Given the description of an element on the screen output the (x, y) to click on. 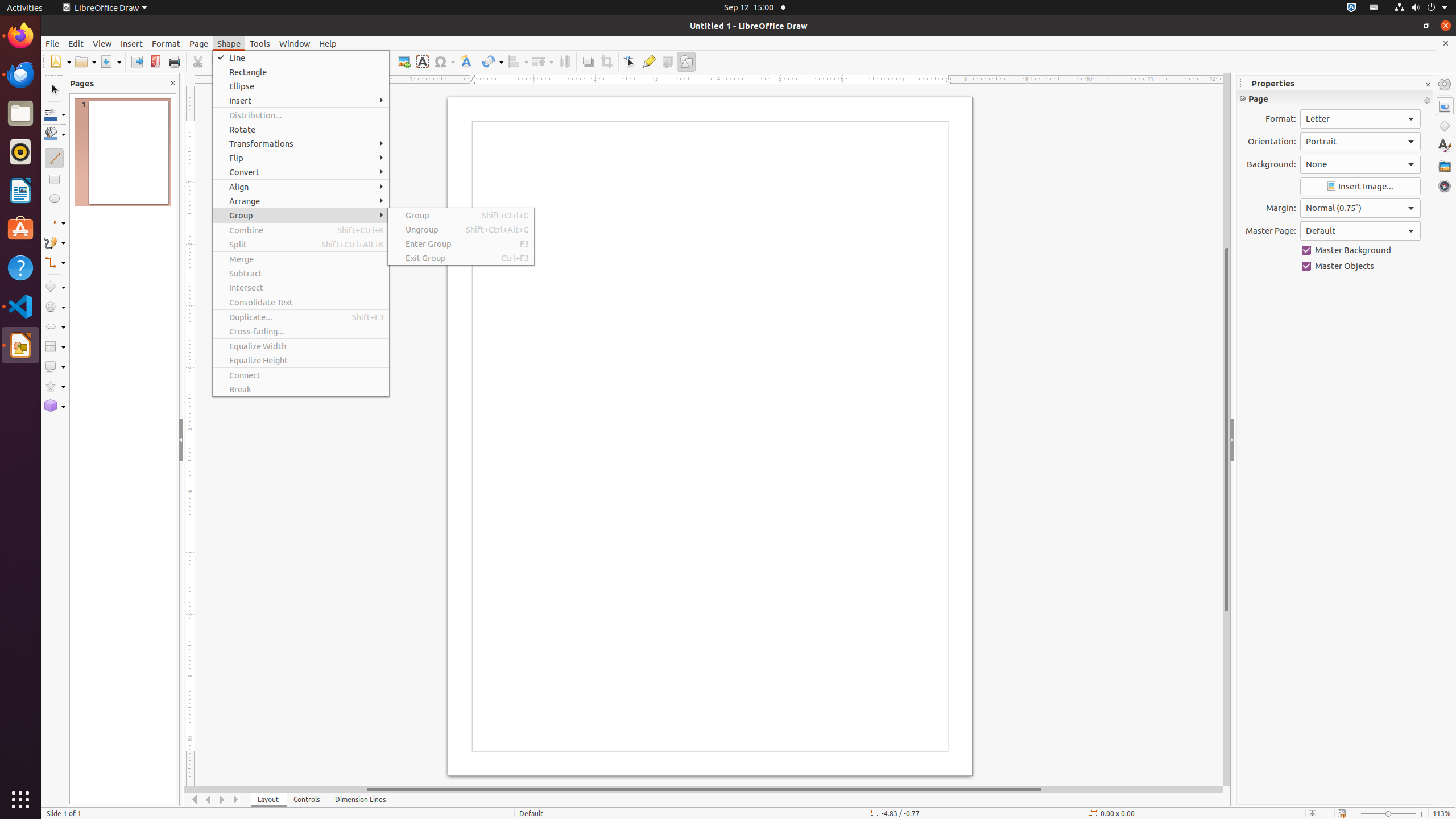
Distribution Element type: push-button (564, 61)
Move Right Element type: push-button (222, 799)
Paste Element type: push-button (237, 61)
Group Element type: menu-item (460, 215)
Align Element type: menu (300, 186)
